Given the description of an element on the screen output the (x, y) to click on. 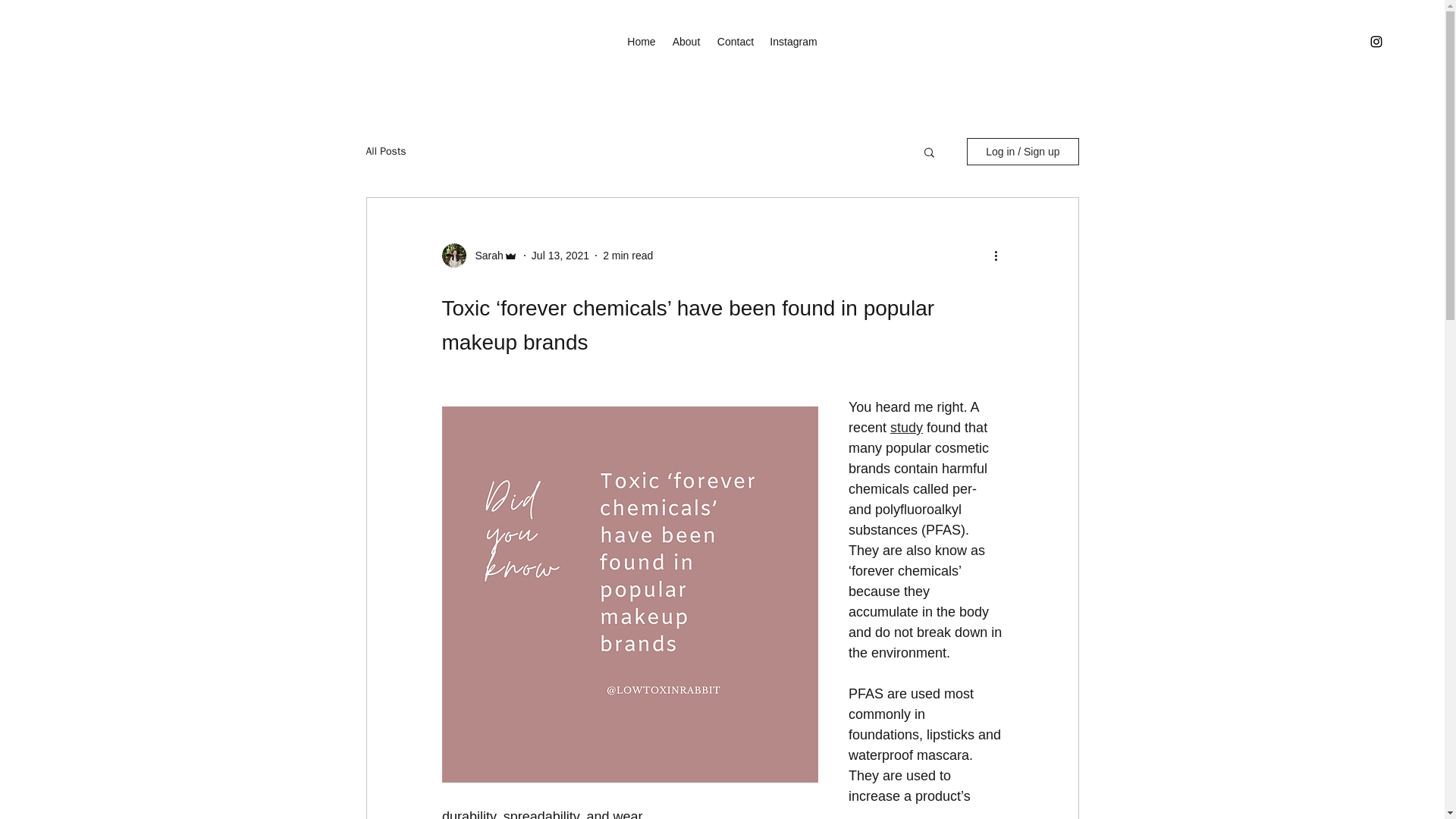
study (906, 427)
Sarah  (483, 254)
2 min read (627, 254)
All Posts (385, 151)
Jul 13, 2021 (560, 254)
Contact (735, 41)
Home (641, 41)
About (686, 41)
Instagram (793, 41)
